Given the description of an element on the screen output the (x, y) to click on. 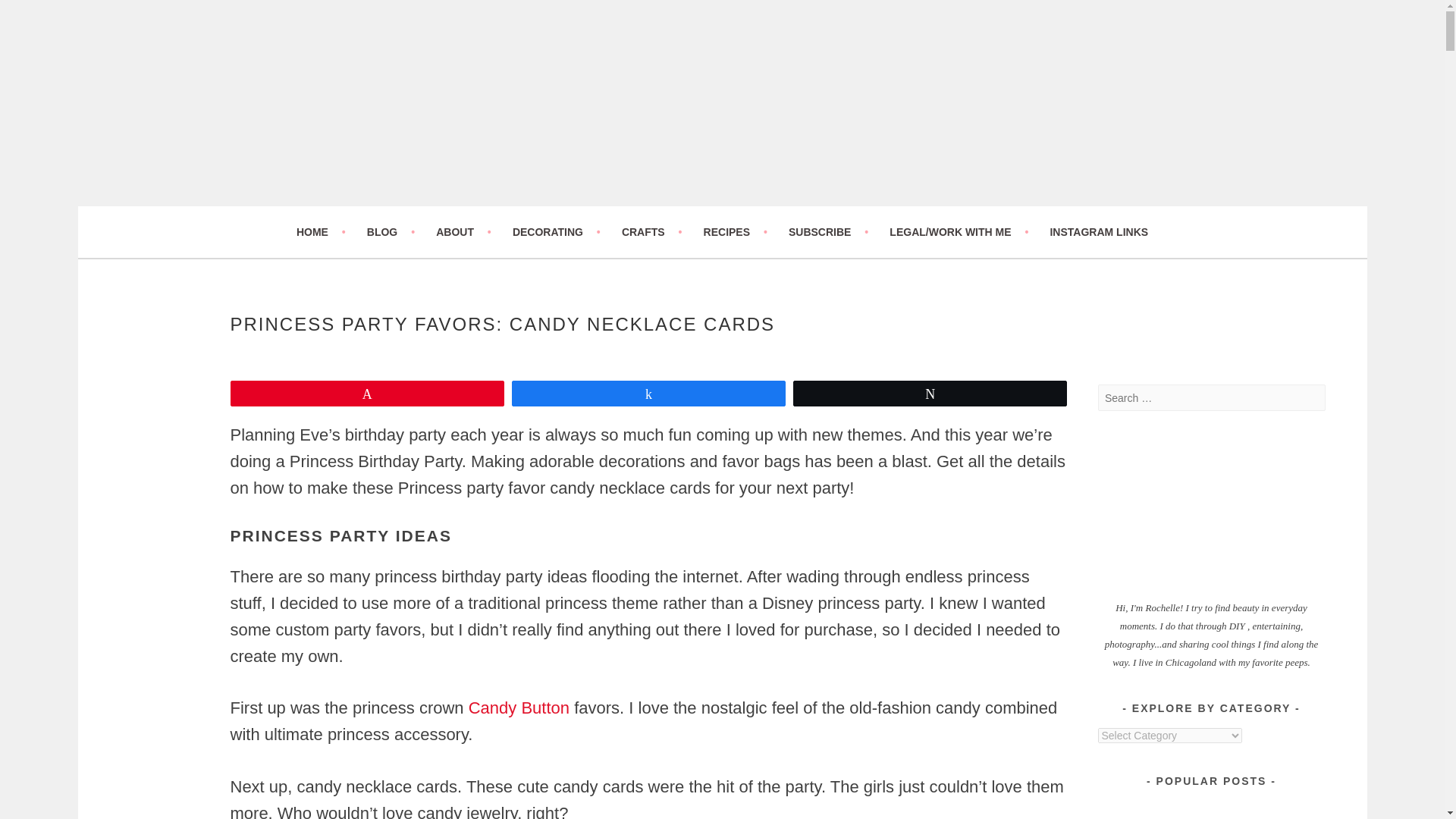
Candy Button (516, 707)
Five Marigolds (264, 214)
Sew Pajama Pants from Vintage Sheets (1268, 809)
BLOG (390, 231)
RECIPES (735, 231)
INSTAGRAM LINKS (1098, 231)
SUBSCRIBE (828, 231)
15 Genius Way to Upcycle Vintage Books (1153, 809)
DECORATING (555, 231)
HOME (321, 231)
FIVE MARIGOLDS (264, 214)
ABOUT (463, 231)
CRAFTS (651, 231)
